Given the description of an element on the screen output the (x, y) to click on. 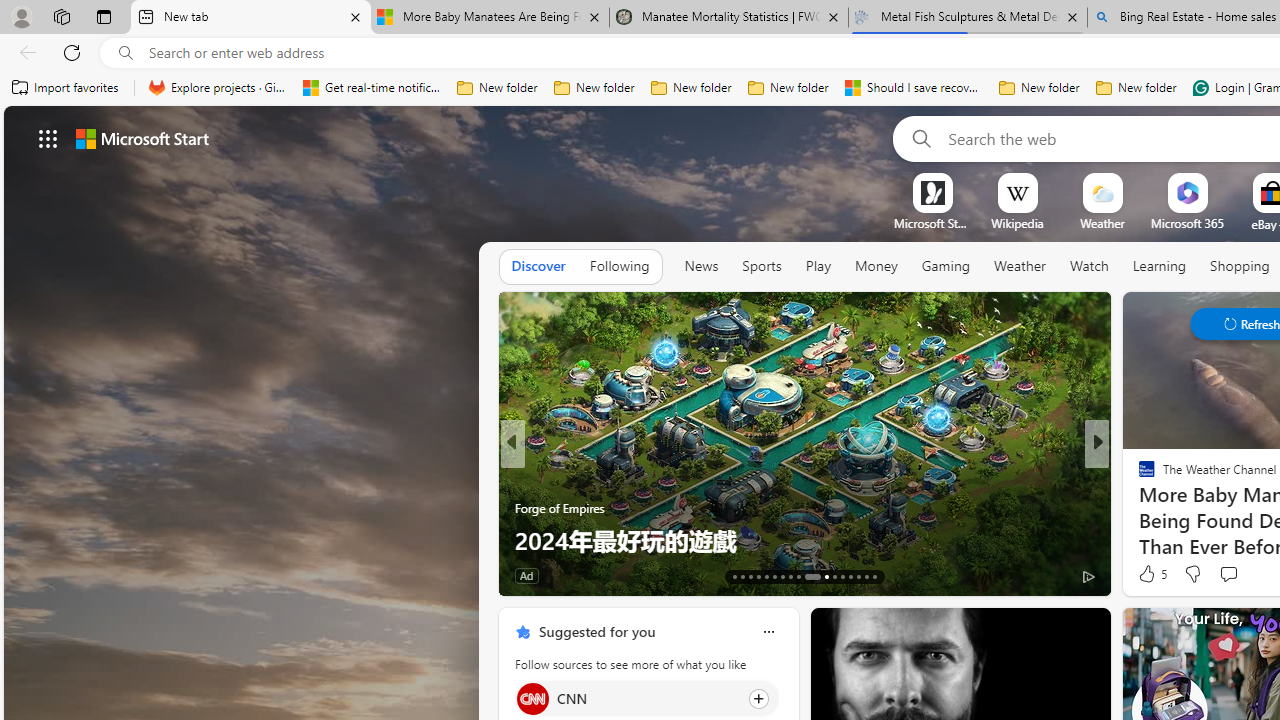
View comments 19 Comment (1244, 574)
AutomationID: tab-20 (789, 576)
CNN (532, 697)
Following (619, 265)
Play (817, 265)
View comments 1 Comment (1229, 575)
View comments 58 Comment (11, 575)
AutomationID: tab-19 (782, 576)
Nordace.com (1165, 507)
AutomationID: tab-13 (733, 576)
Import favorites (65, 88)
Learning (1159, 267)
View comments 42 Comment (11, 575)
